Given the description of an element on the screen output the (x, y) to click on. 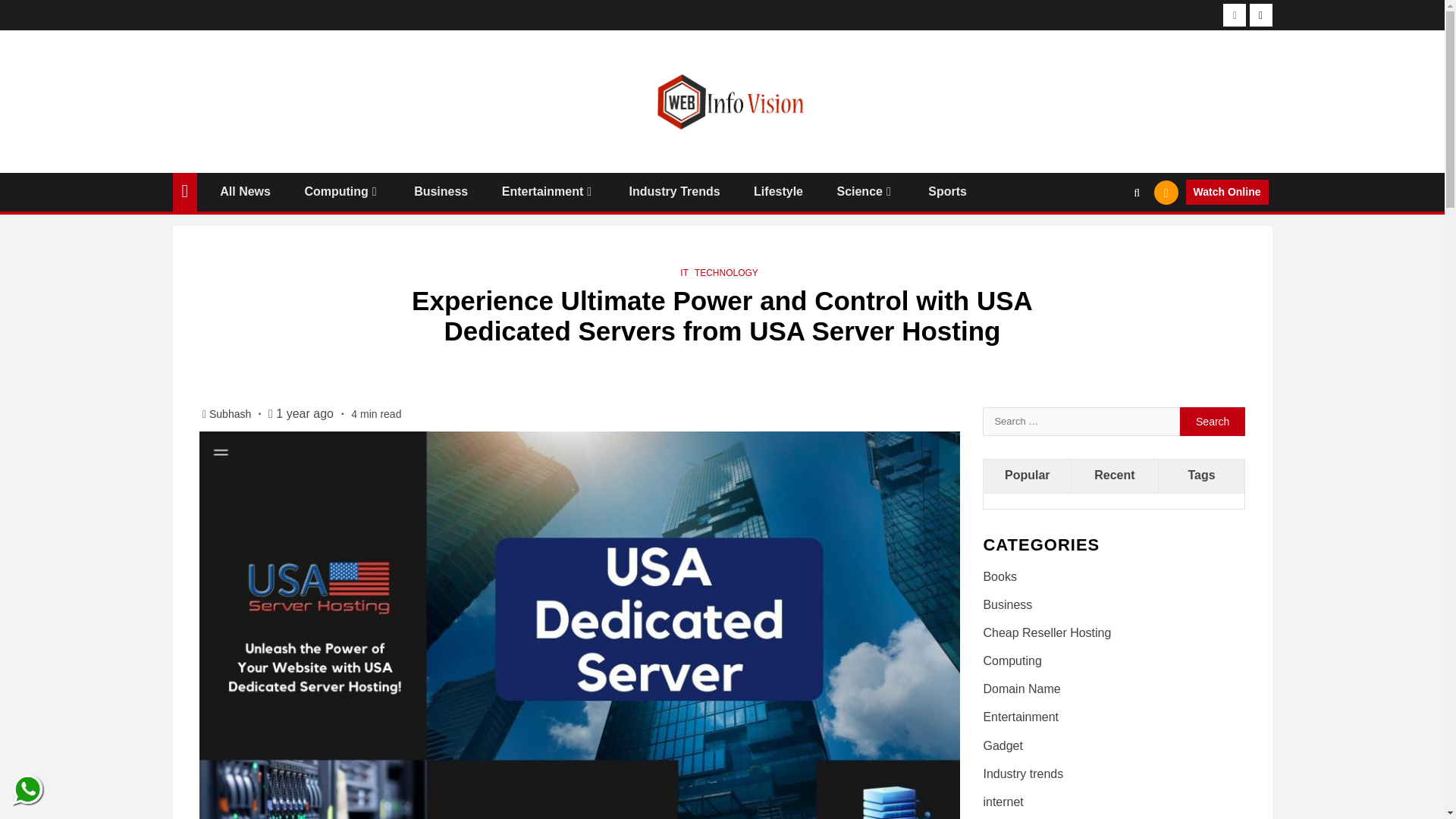
Facebook (1234, 15)
Search (1212, 421)
Business (440, 191)
Subhash (231, 413)
Industry Trends (674, 191)
Search (1212, 421)
Science (864, 191)
Lifestyle (778, 191)
Twitter (1260, 15)
Watch Online (1227, 192)
